Given the description of an element on the screen output the (x, y) to click on. 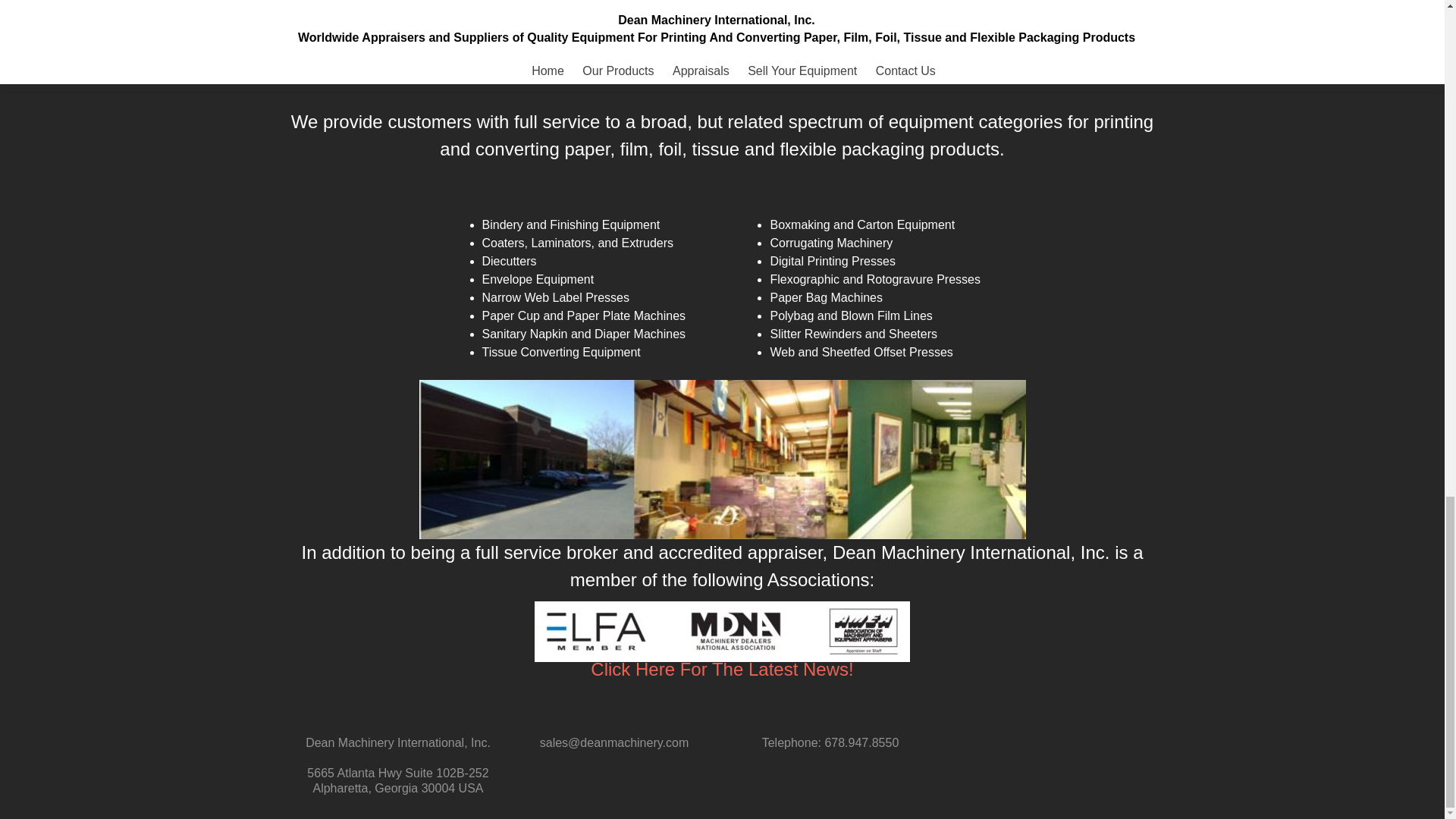
Click Here For The Latest News! (722, 669)
